Given the description of an element on the screen output the (x, y) to click on. 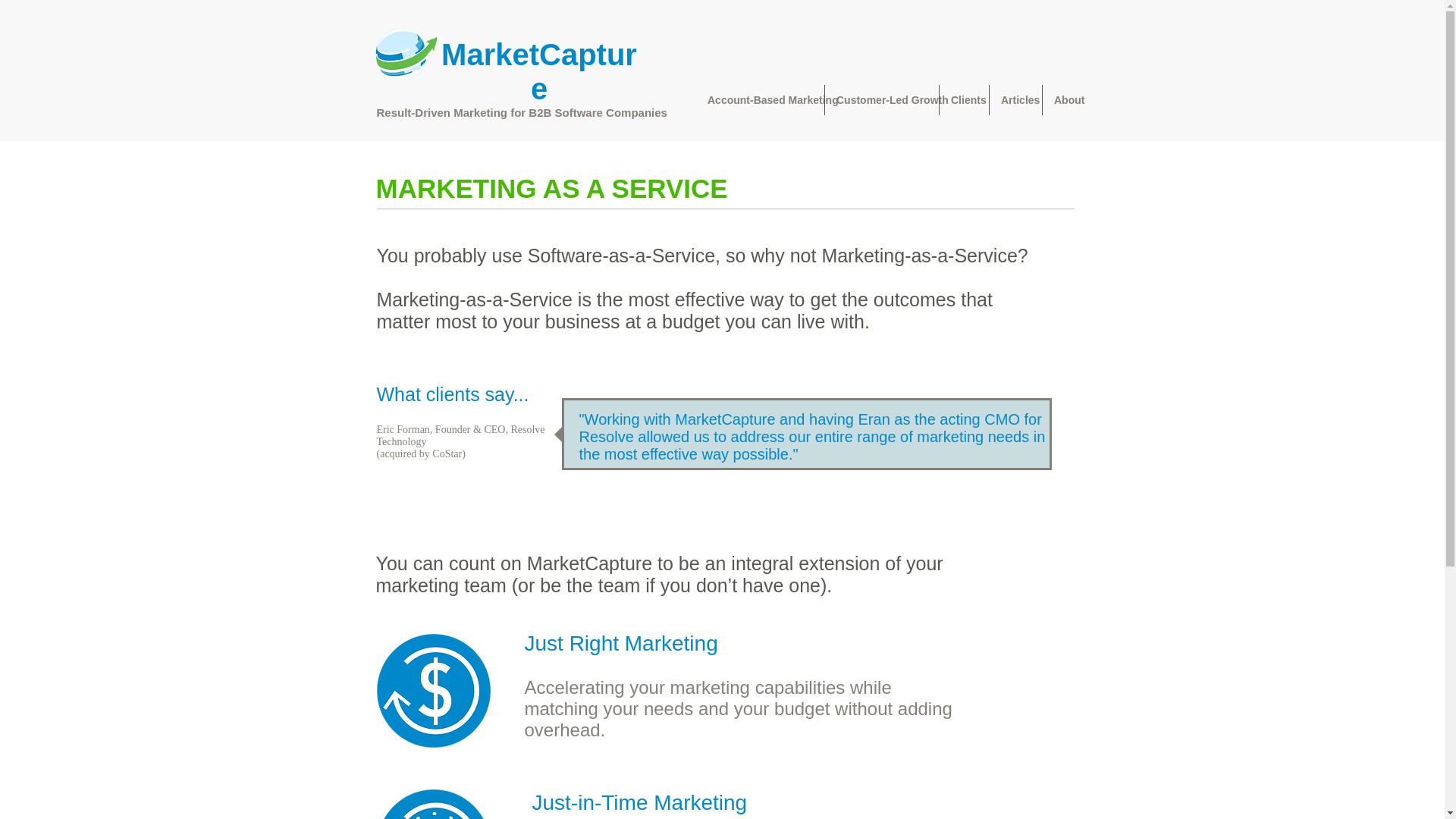
Clients (963, 100)
About (1066, 100)
Account-Based Marketing (759, 100)
Customer-Led Growth (882, 100)
optimize-256.png (432, 690)
Articles (1016, 100)
